Given the description of an element on the screen output the (x, y) to click on. 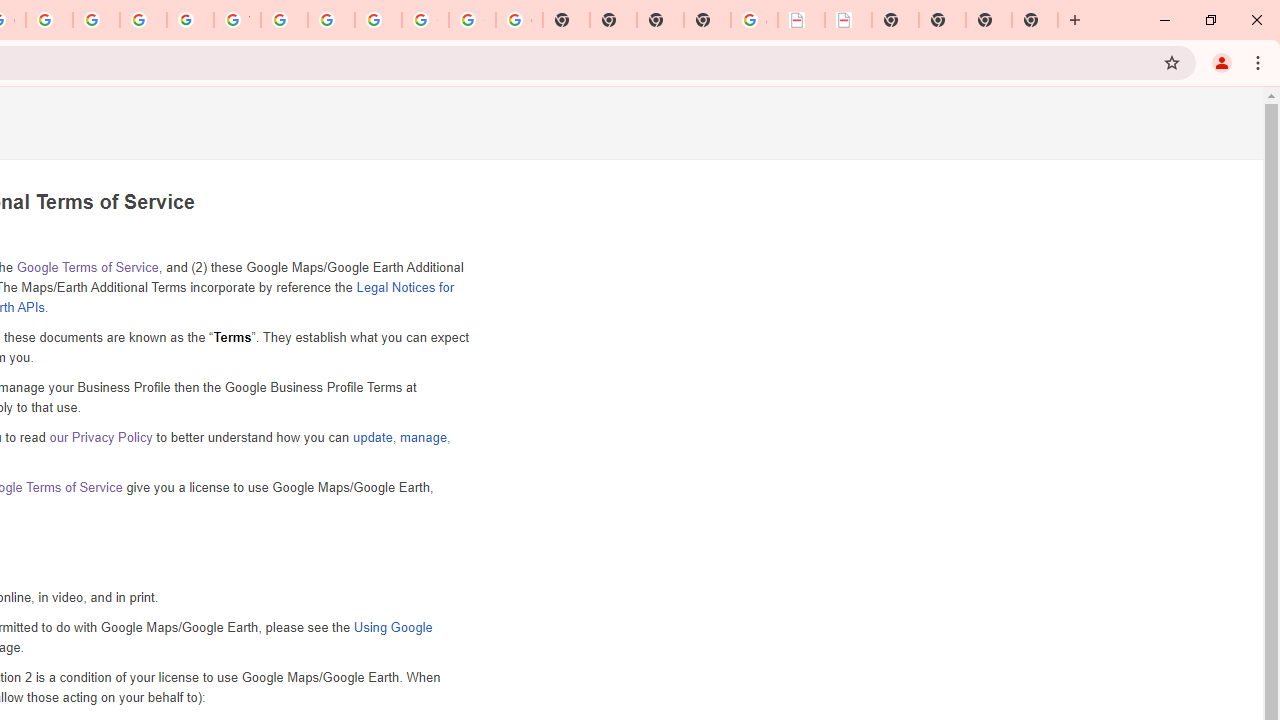
our Privacy Policy (100, 437)
Google Terms of Service (86, 267)
Google Images (518, 20)
